Given the description of an element on the screen output the (x, y) to click on. 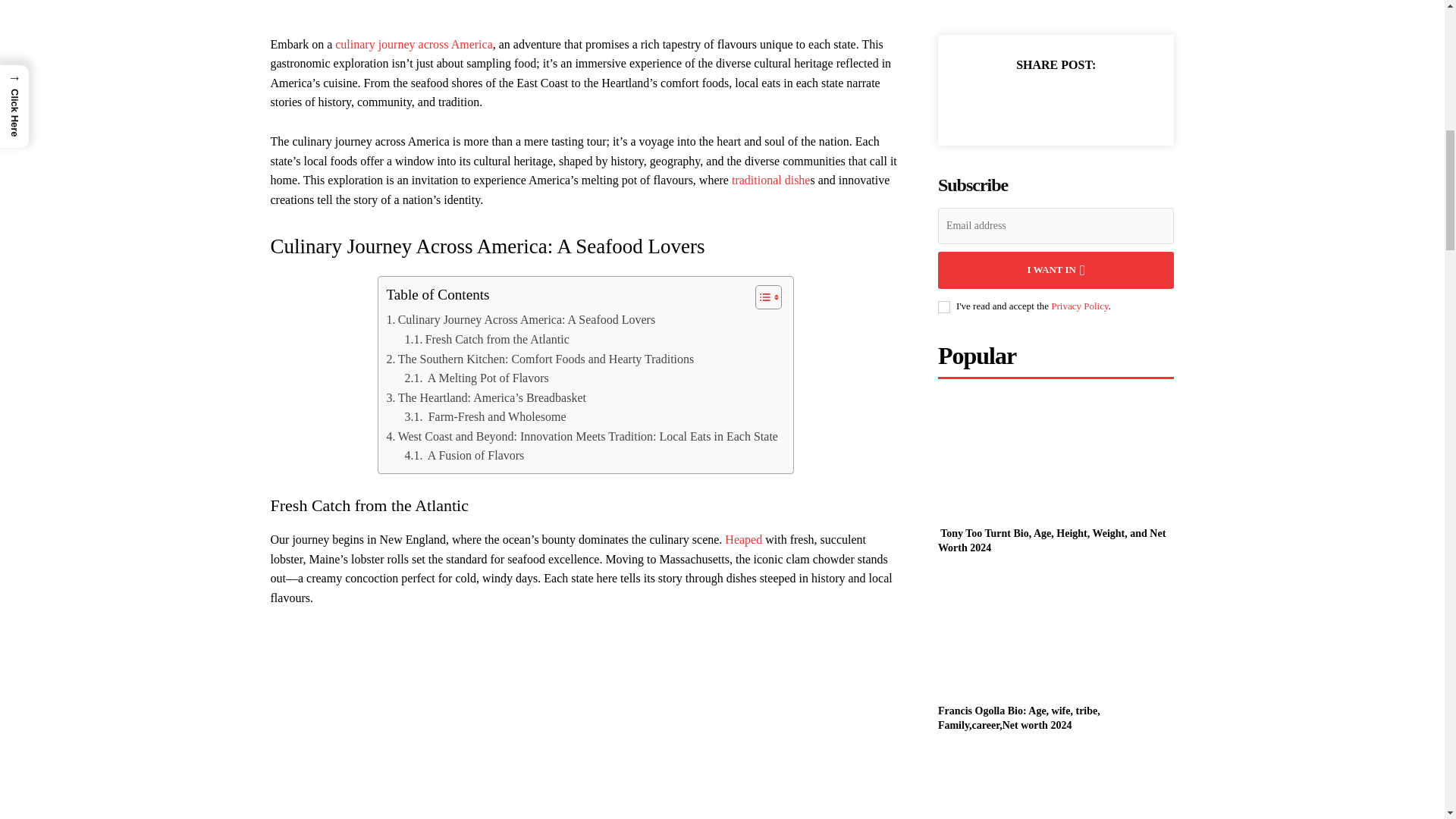
The Southern Kitchen: Comfort Foods and Hearty Traditions (539, 358)
Culinary Journey Across America: A Seafood Lovers (520, 320)
